Given the description of an element on the screen output the (x, y) to click on. 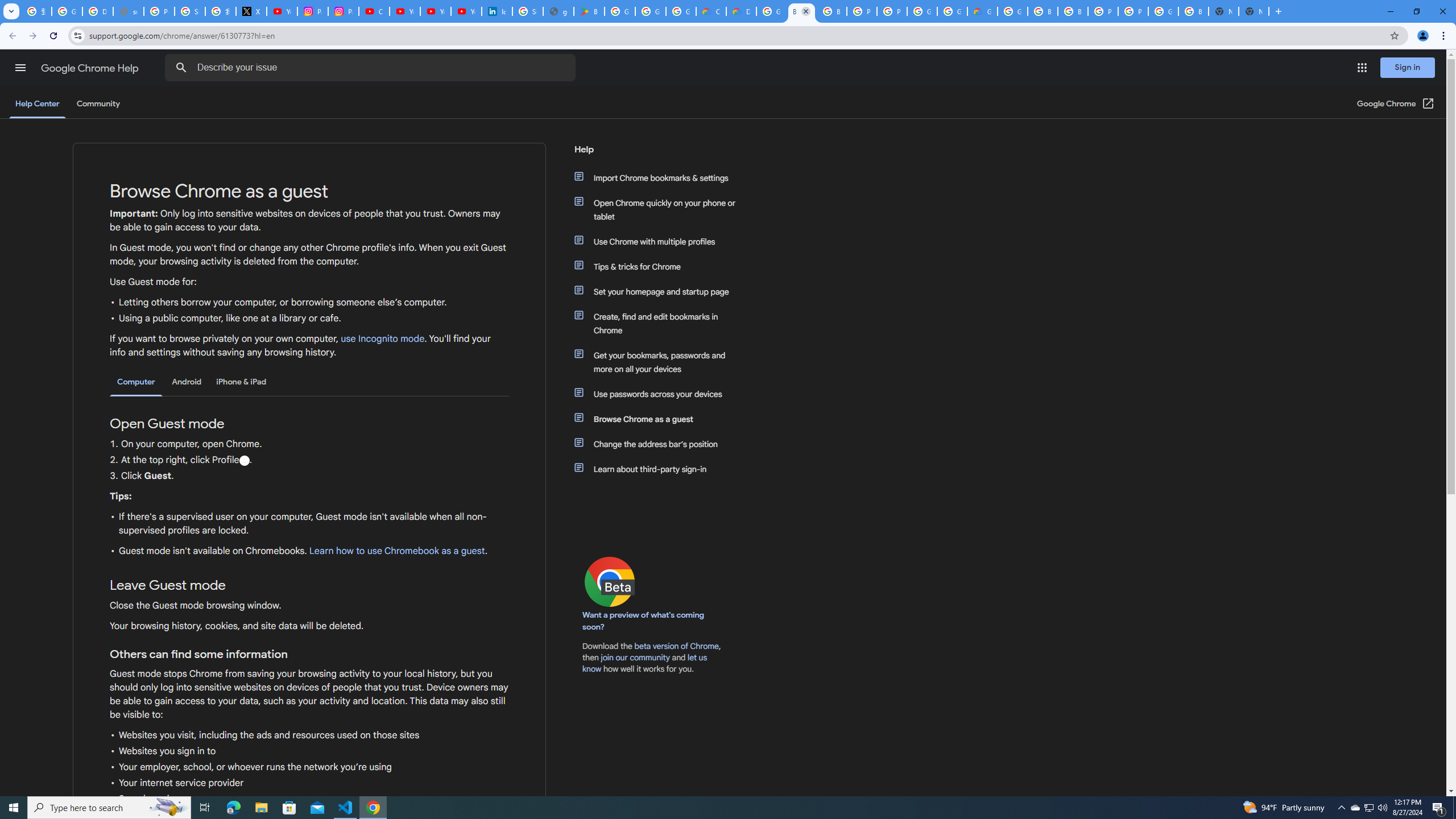
Tips & tricks for Chrome (661, 266)
Android (186, 381)
Learn about third-party sign-in (661, 469)
Learn how to use Chromebook as a guest (396, 550)
Profile (243, 460)
Browse Chrome as a guest - Computer - Google Chrome Help (830, 11)
Google Cloud Estimate Summary (982, 11)
use Incognito mode (382, 338)
Describe your issue (371, 67)
